Given the description of an element on the screen output the (x, y) to click on. 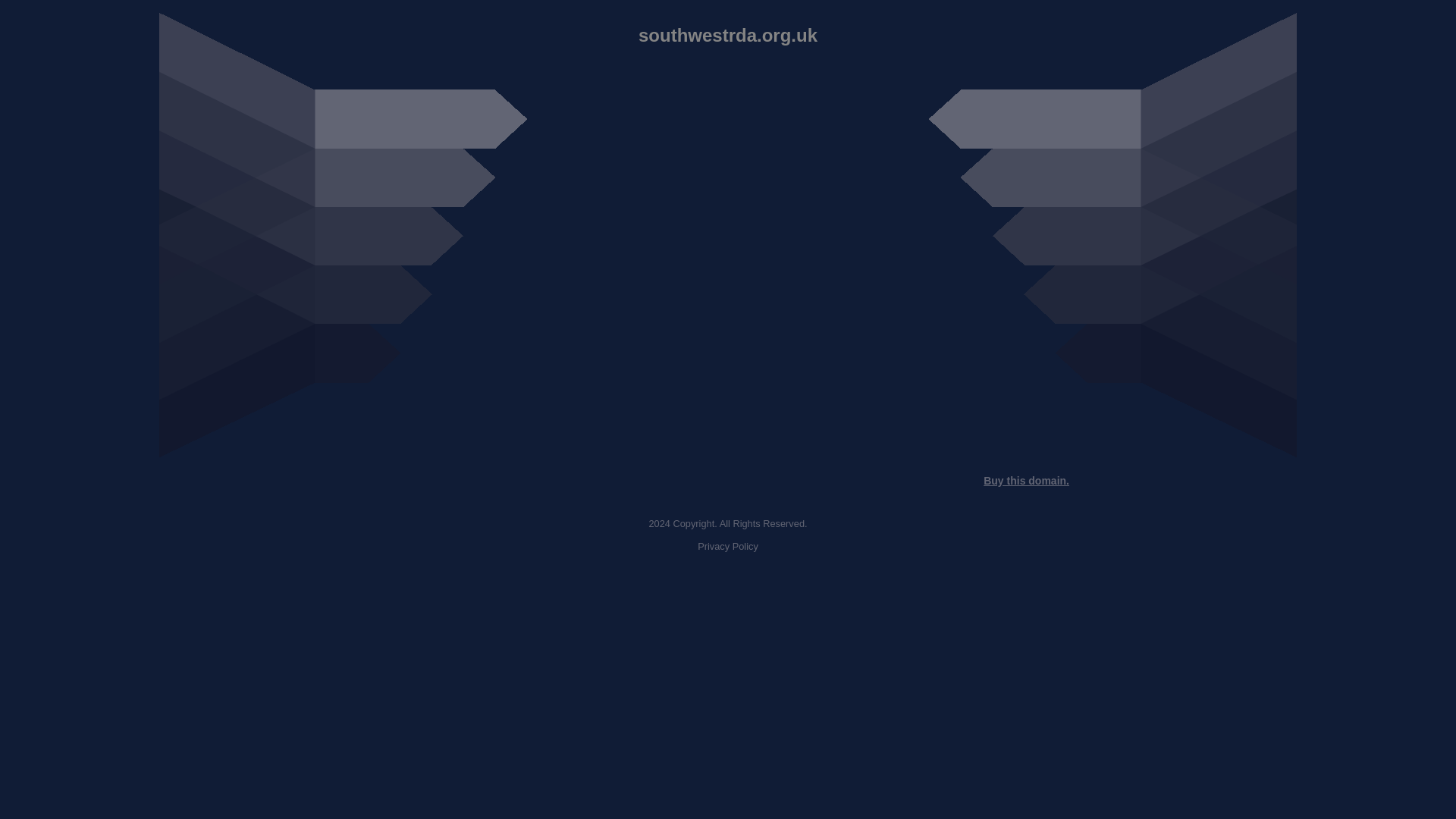
Buy this domain. (1026, 480)
Privacy Policy (727, 546)
